Given the description of an element on the screen output the (x, y) to click on. 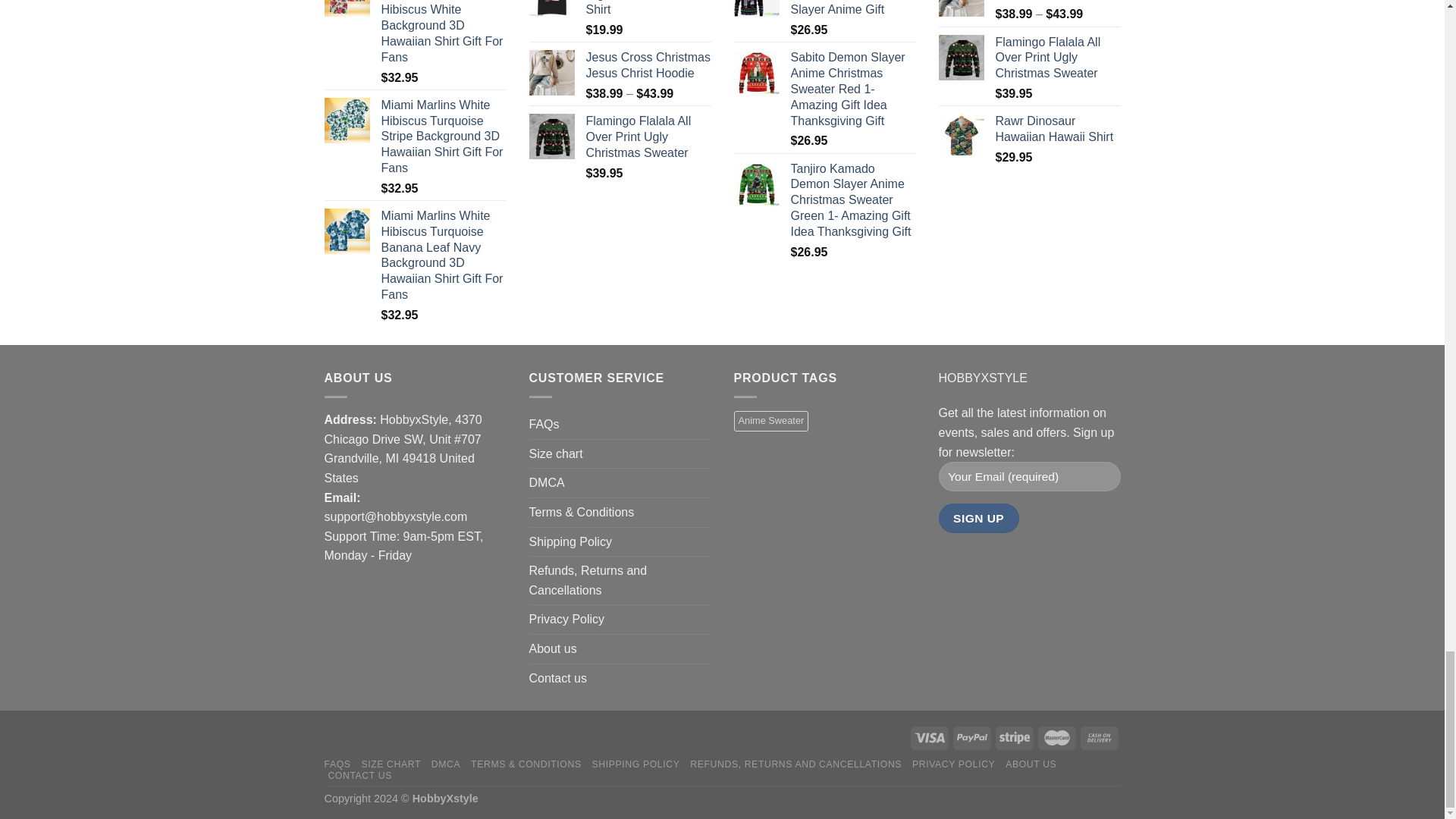
Sign Up (979, 518)
